Given the description of an element on the screen output the (x, y) to click on. 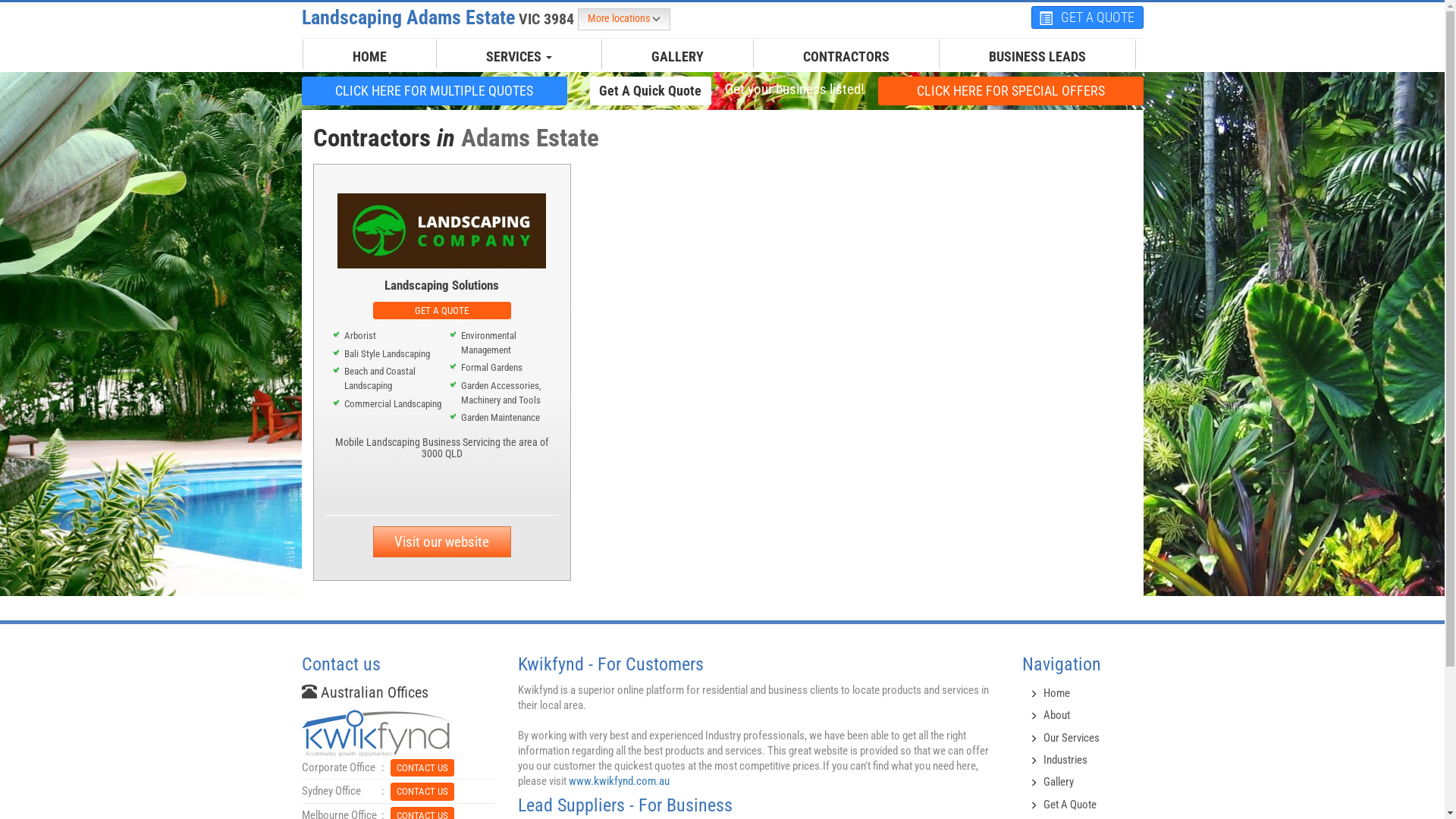
More locations Element type: text (623, 19)
www.kwikfynd.com.au Element type: text (618, 780)
Industries Element type: text (1065, 759)
About Element type: text (1056, 714)
CLICK HERE FOR MULTIPLE QUOTES Element type: text (434, 90)
Get A Quote Element type: text (1069, 804)
BUSINESS LEADS Element type: text (1036, 56)
CLICK HERE FOR SPECIAL OFFERS Element type: text (1010, 90)
HOME Element type: text (369, 56)
CONTACT US Element type: text (421, 766)
GET A QUOTE Element type: text (442, 310)
Home Element type: text (1056, 692)
CONTRACTORS Element type: text (845, 56)
CONTACT US Element type: text (421, 767)
Gallery Element type: text (1058, 781)
GET A QUOTE Element type: text (442, 309)
Get A Quick Quote Element type: text (650, 90)
Visit our website Element type: text (442, 541)
CONTACT US Element type: text (421, 790)
CLICK HERE FOR MULTIPLE QUOTES Element type: text (434, 90)
Get A Quick Quote Element type: text (650, 90)
CLICK HERE FOR SPECIAL OFFERS Element type: text (1010, 90)
Landscaping Adams Estate VIC 3984 Element type: text (439, 17)
Our Services Element type: text (1071, 737)
GET A QUOTE Element type: text (1087, 17)
Get your business listed! Element type: text (793, 89)
SERVICES Element type: text (518, 56)
CONTACT US Element type: text (421, 791)
GALLERY Element type: text (677, 56)
Visit our website Element type: text (442, 541)
